Given the description of an element on the screen output the (x, y) to click on. 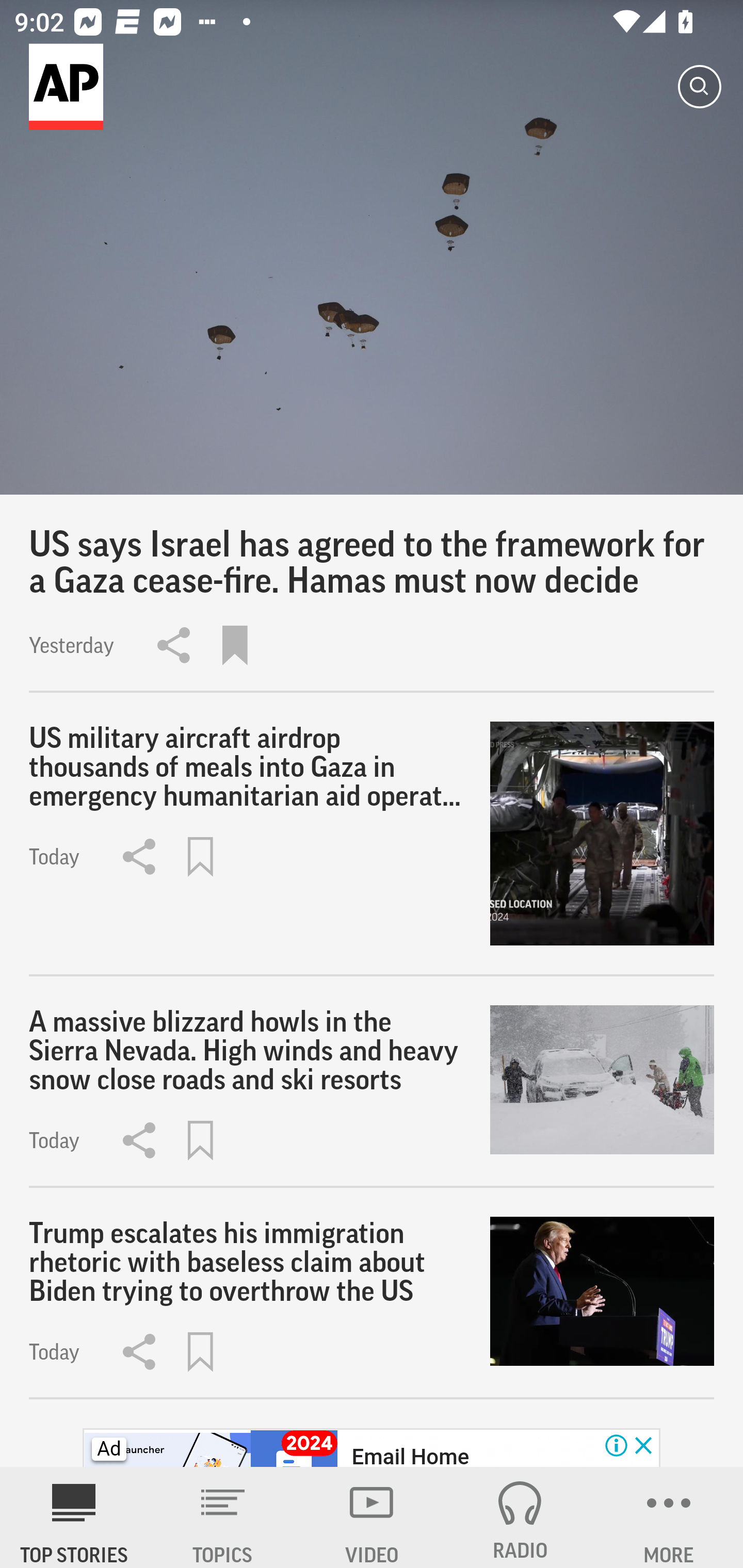
Email Home (409, 1454)
AP News TOP STORIES (74, 1517)
TOPICS (222, 1517)
VIDEO (371, 1517)
RADIO (519, 1517)
MORE (668, 1517)
